Given the description of an element on the screen output the (x, y) to click on. 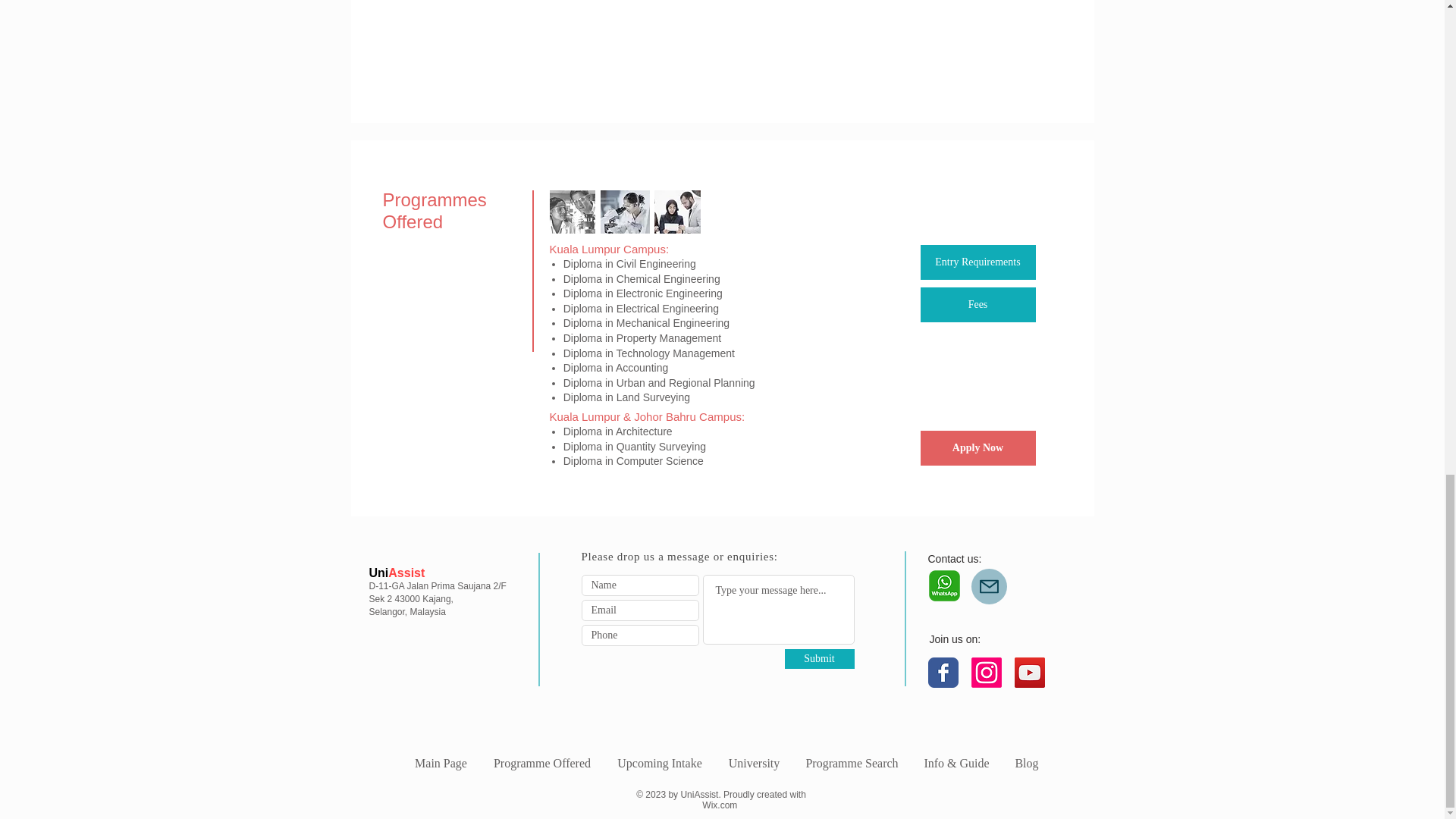
Main Page (440, 763)
Upcoming Intake (659, 763)
Fees (977, 304)
Submit (818, 659)
Programme Offered (542, 763)
Entry Requirements (977, 262)
Apply Now (977, 448)
